Given the description of an element on the screen output the (x, y) to click on. 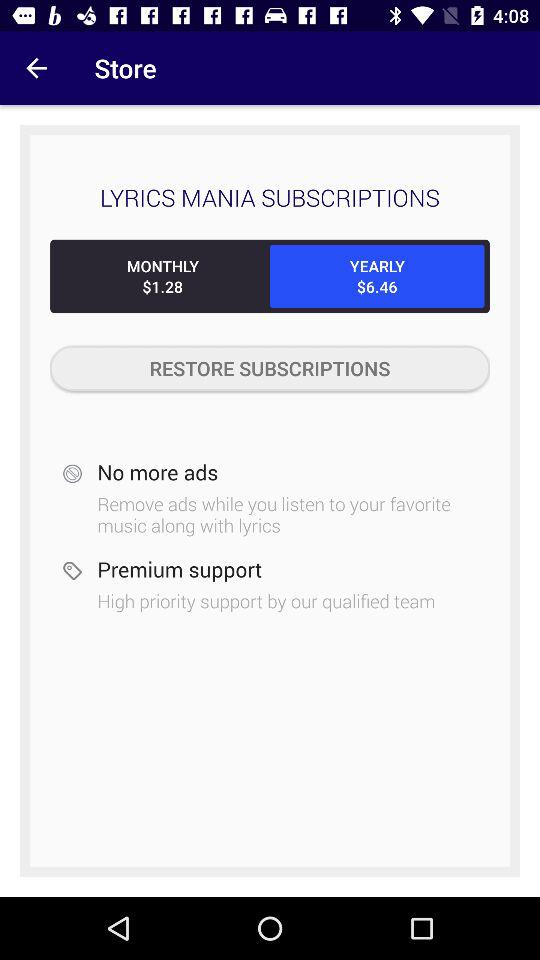
click the icon below lyrics mania subscriptions item (162, 275)
